Given the description of an element on the screen output the (x, y) to click on. 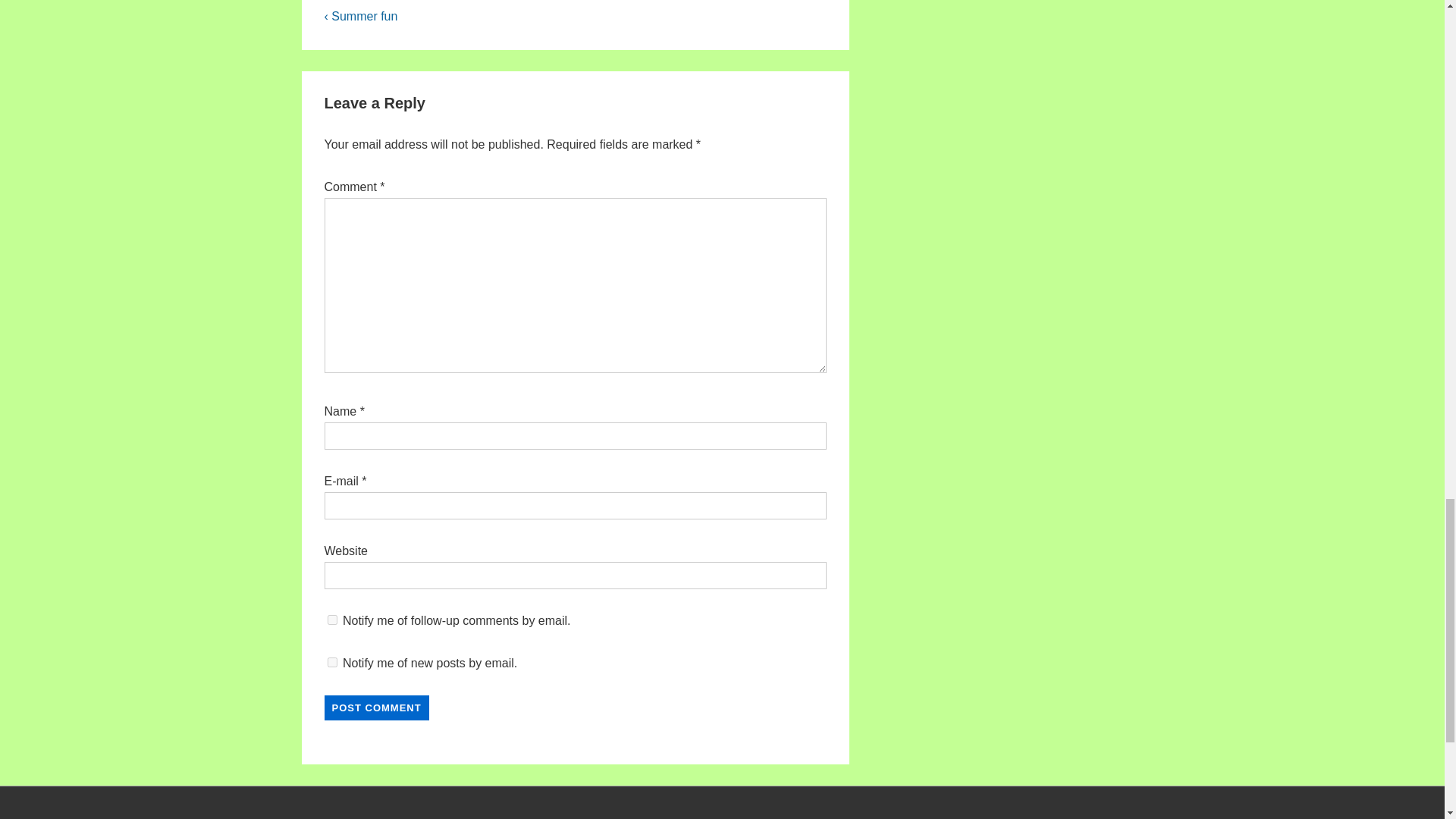
subscribe (332, 662)
Post Comment (376, 707)
Post Comment (376, 707)
subscribe (332, 619)
